Given the description of an element on the screen output the (x, y) to click on. 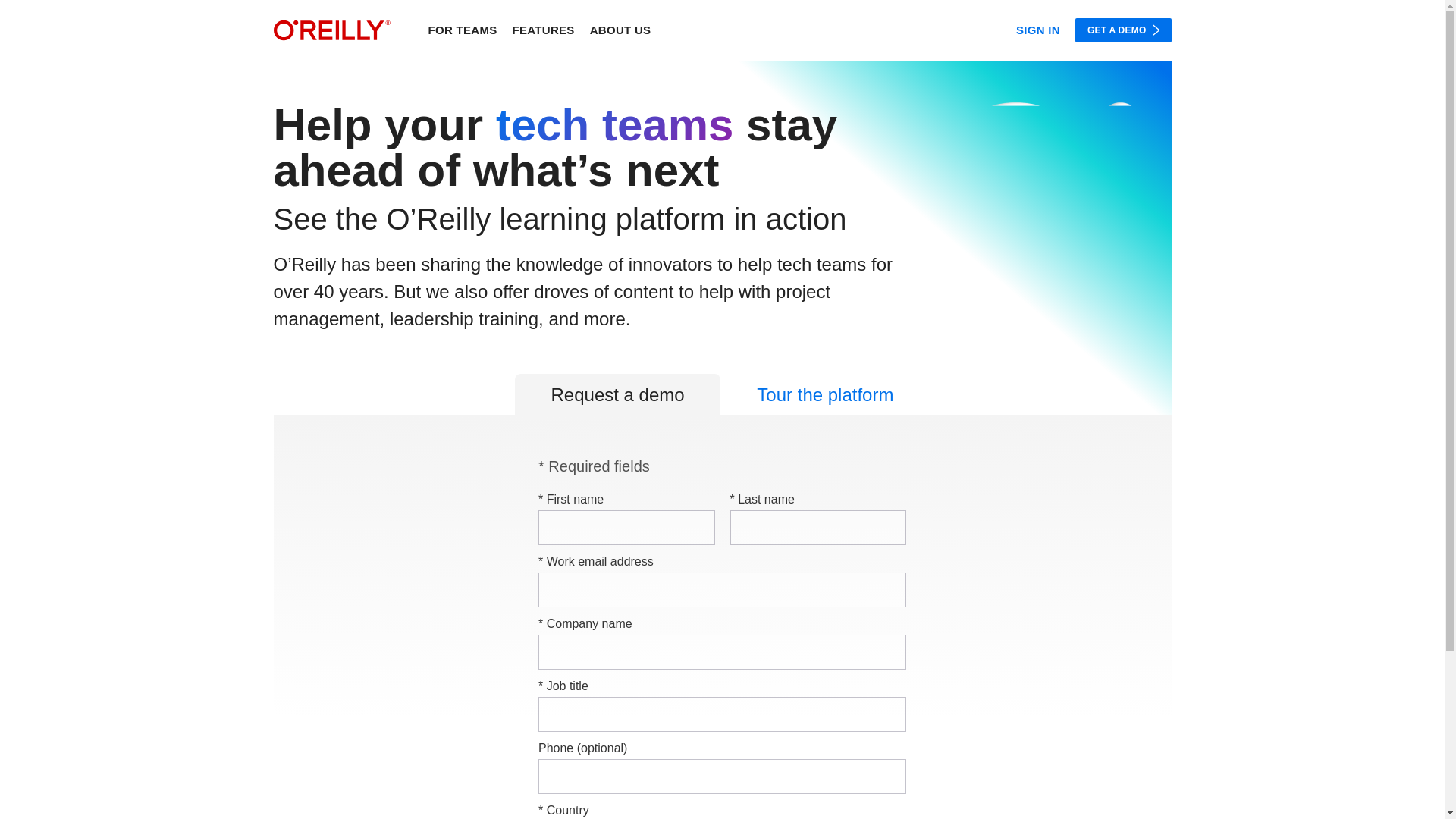
FOR TEAMS (462, 29)
Go to home page (331, 29)
GET A DEMO (1123, 30)
Request a demo (617, 393)
ABOUT US (619, 29)
Tour the platform (825, 393)
SIGN IN (1037, 29)
FEATURES (543, 29)
